Given the description of an element on the screen output the (x, y) to click on. 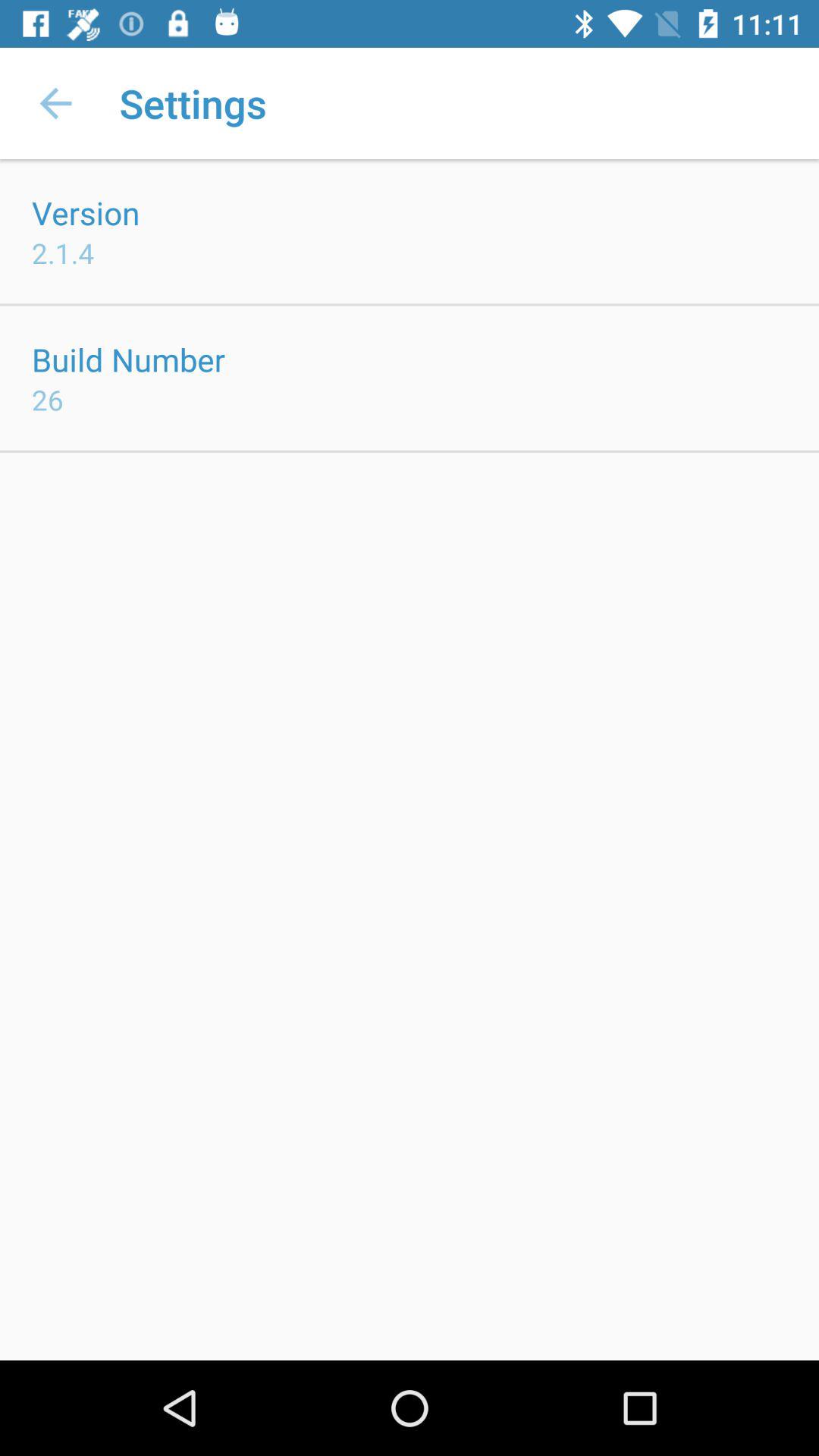
press the item to the left of the settings app (55, 103)
